Given the description of an element on the screen output the (x, y) to click on. 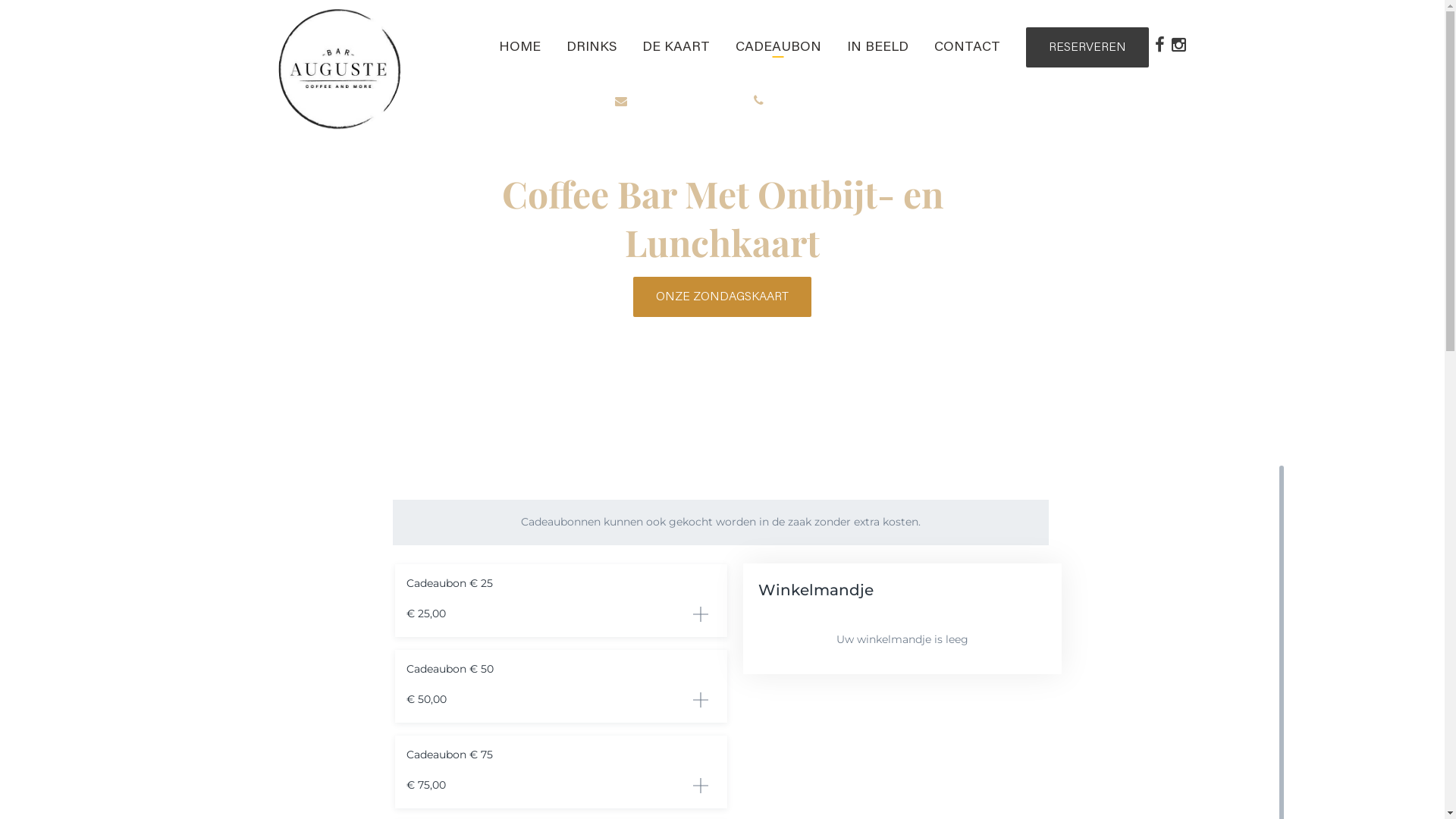
IN BEELD Element type: text (876, 47)
HOME Element type: text (519, 47)
DE KAART Element type: text (675, 47)
ONZE ZONDAGSKAART Element type: text (722, 296)
CADEAUBON Element type: text (778, 47)
CONTACT Element type: text (967, 47)
info@barauguste.be Element type: text (681, 102)
DRINKS Element type: text (590, 47)
RESERVEREN Element type: text (1086, 47)
